Given the description of an element on the screen output the (x, y) to click on. 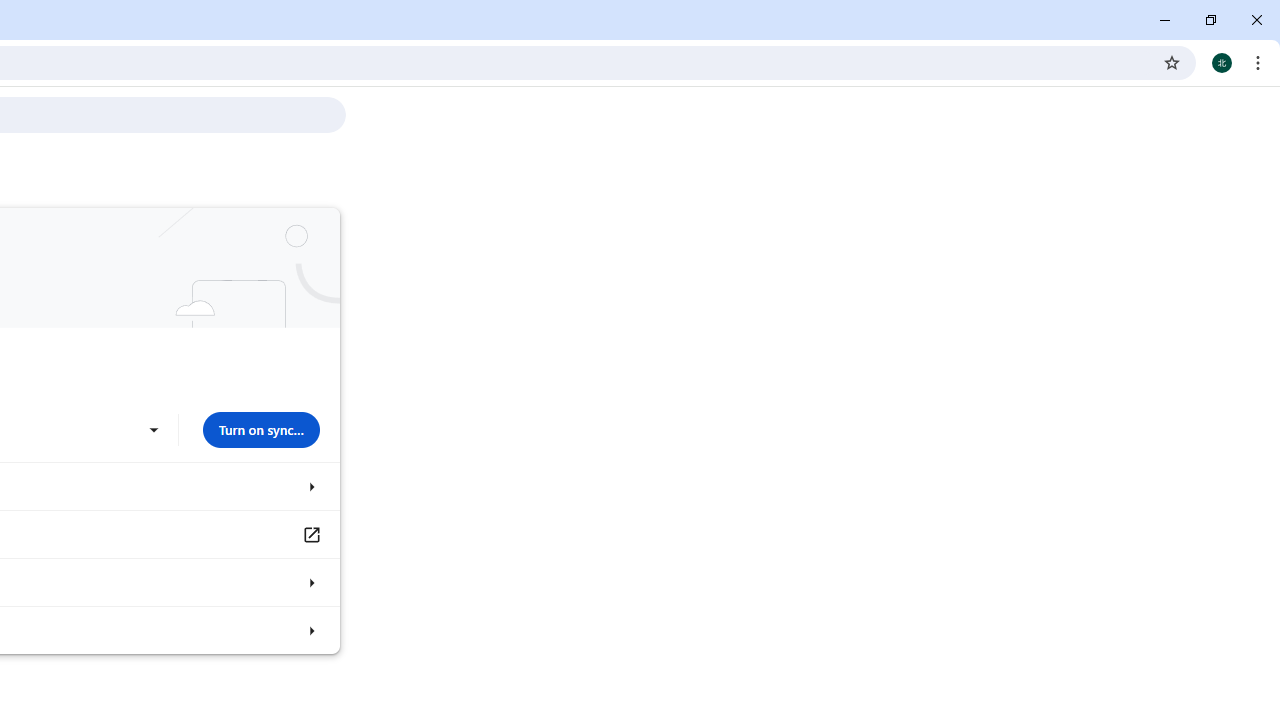
Import bookmarks and settings (310, 630)
Use another account (153, 430)
Manage your Google Account (310, 533)
Sync and Google services (310, 486)
Customize your Chrome profile (310, 582)
